Given the description of an element on the screen output the (x, y) to click on. 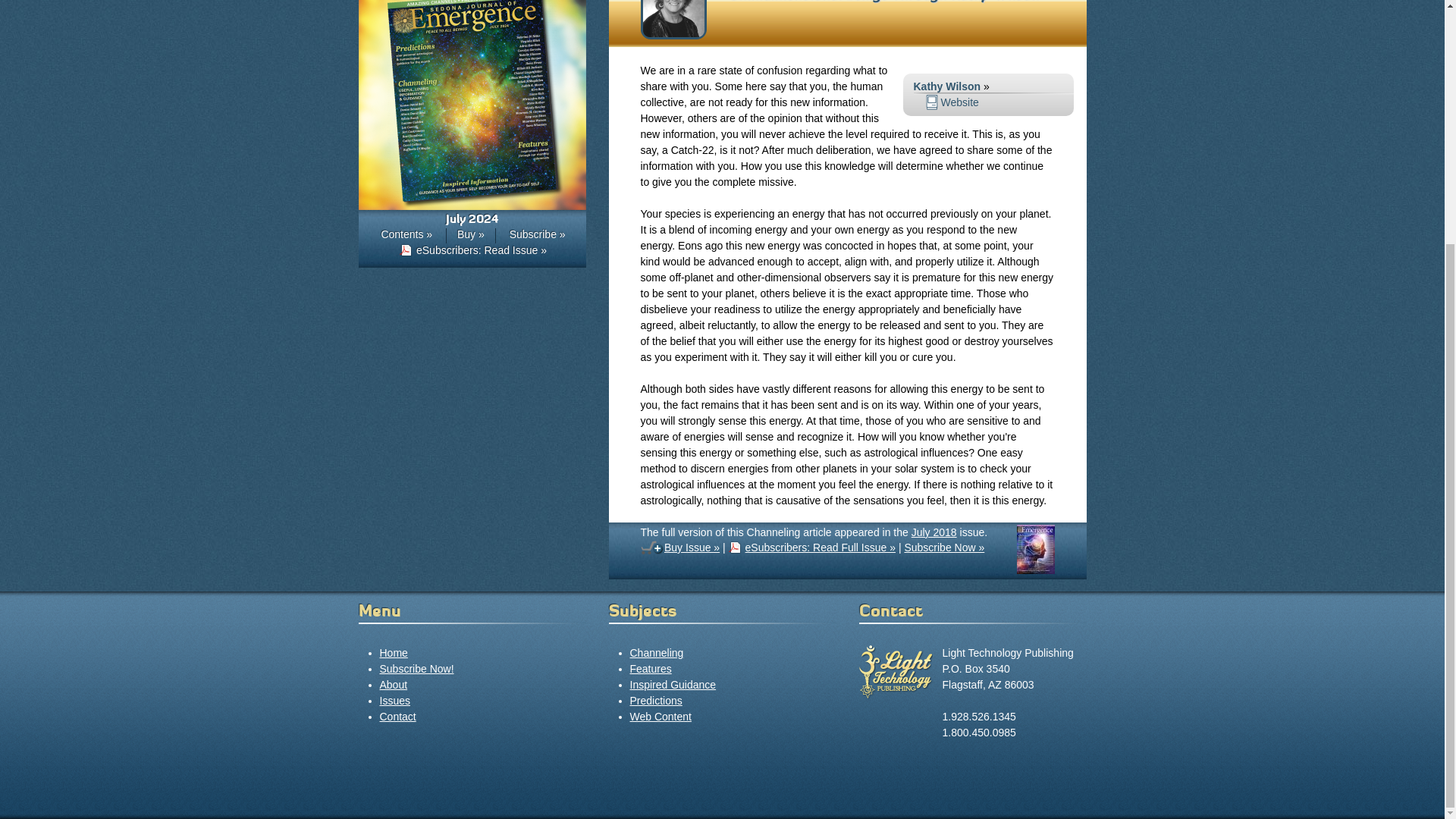
Subscribe Now! (415, 668)
Kathy Wilson (673, 35)
About (392, 684)
Home (392, 653)
July 2018 (933, 532)
Website (950, 102)
Kathy Wilson (945, 86)
Kathy Wilson (993, 1)
July 2018 (1035, 570)
